Given the description of an element on the screen output the (x, y) to click on. 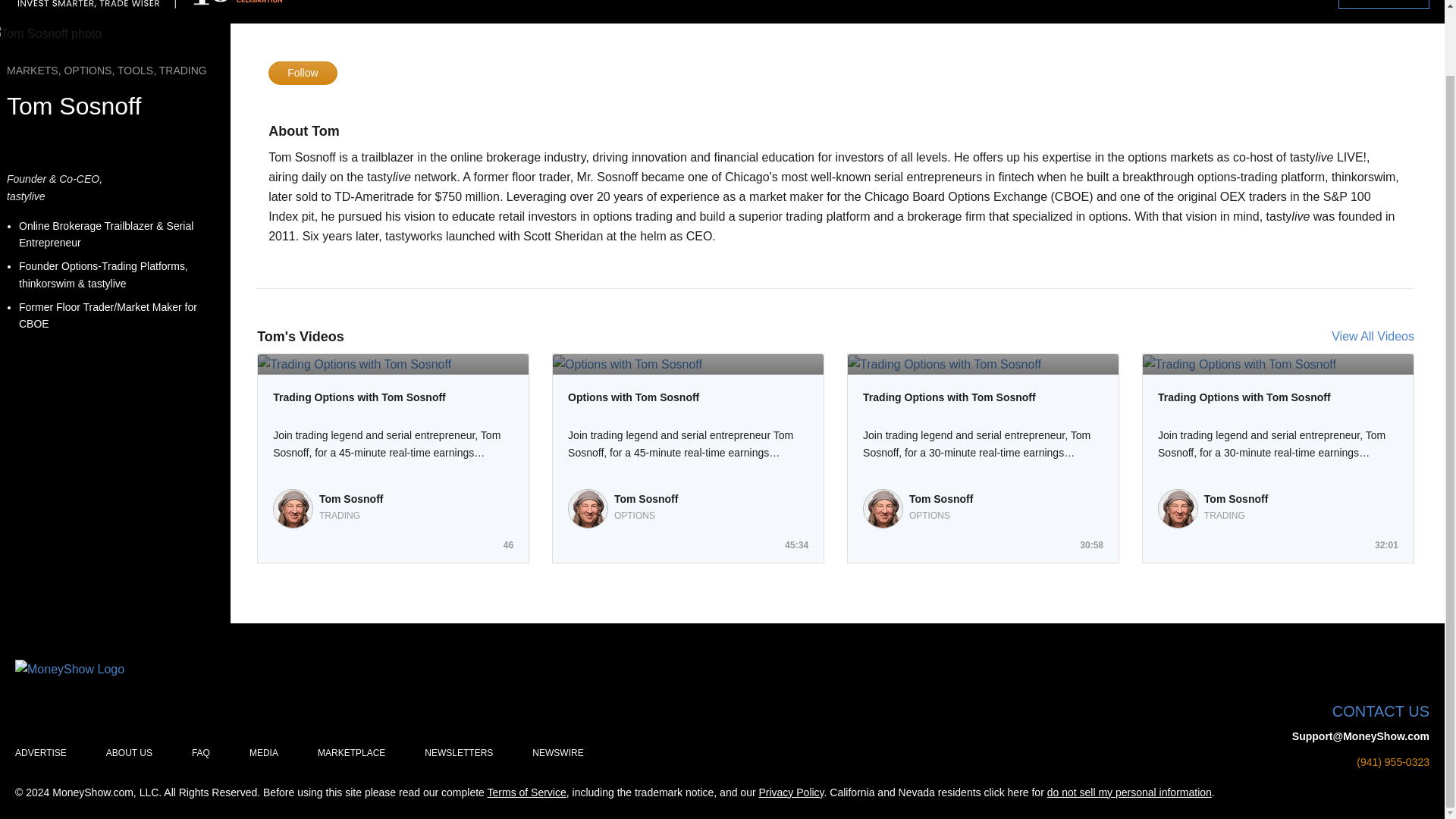
Trading Options with Tom Sosnoff (393, 397)
Experts (994, 2)
Follow (301, 73)
Trading Options with Tom Sosnoff (983, 397)
Premium (1383, 4)
Live Events (1275, 2)
Trading Options with Tom Sosnoff (393, 397)
Virtual Learning (1090, 2)
You must login to follow our experts. (301, 73)
Tom Sosnoff (351, 499)
